Given the description of an element on the screen output the (x, y) to click on. 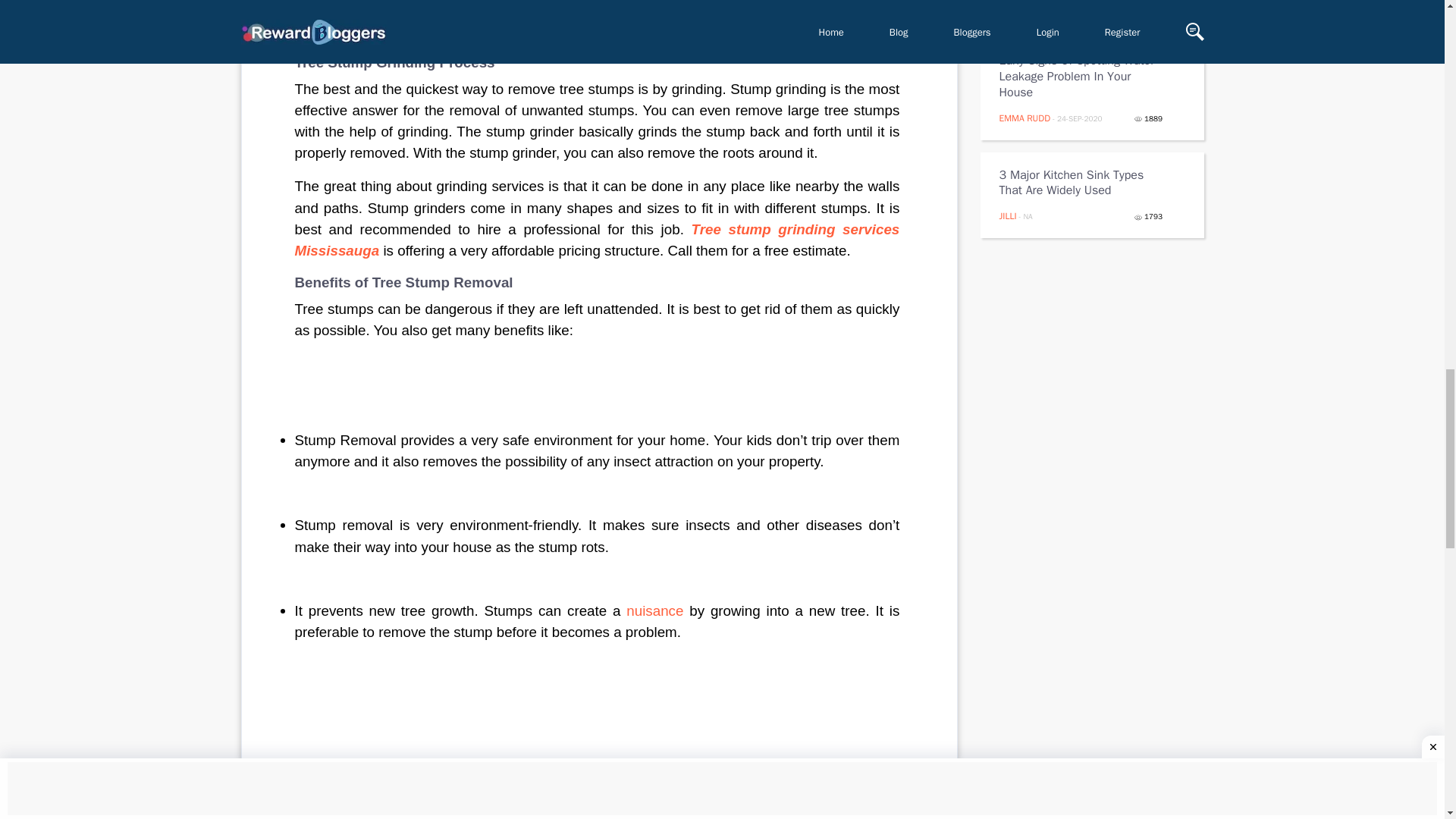
EMMA RUDD (1024, 118)
Early Signs Of Spotting Water Leakage Problem In Your House (1080, 76)
Tree stump grinding services Mississauga (598, 239)
nuisance (654, 610)
3 Major Kitchen Sink Types That Are Widely Used (1080, 183)
BLOGGER (1018, 4)
